Given the description of an element on the screen output the (x, y) to click on. 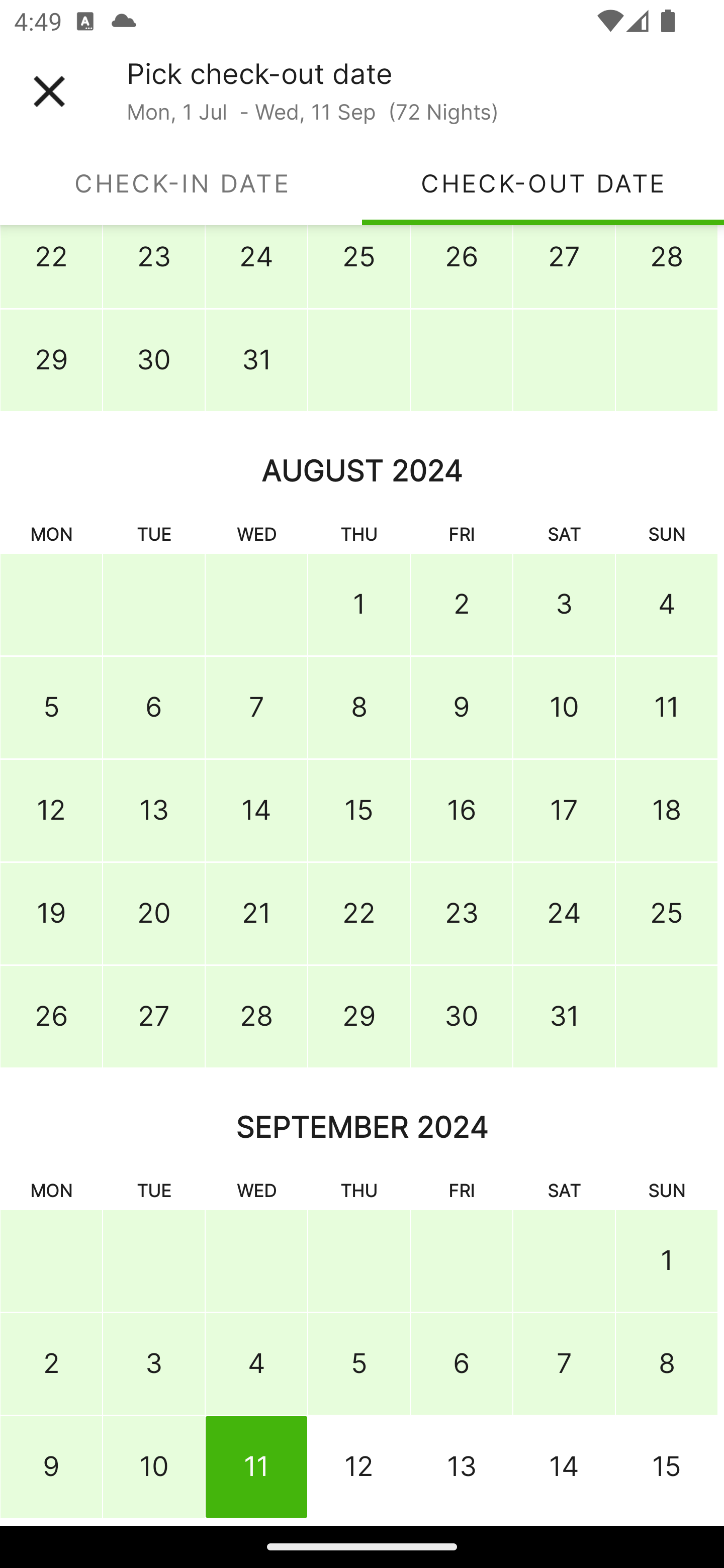
Check-in Date CHECK-IN DATE (181, 183)
